Given the description of an element on the screen output the (x, y) to click on. 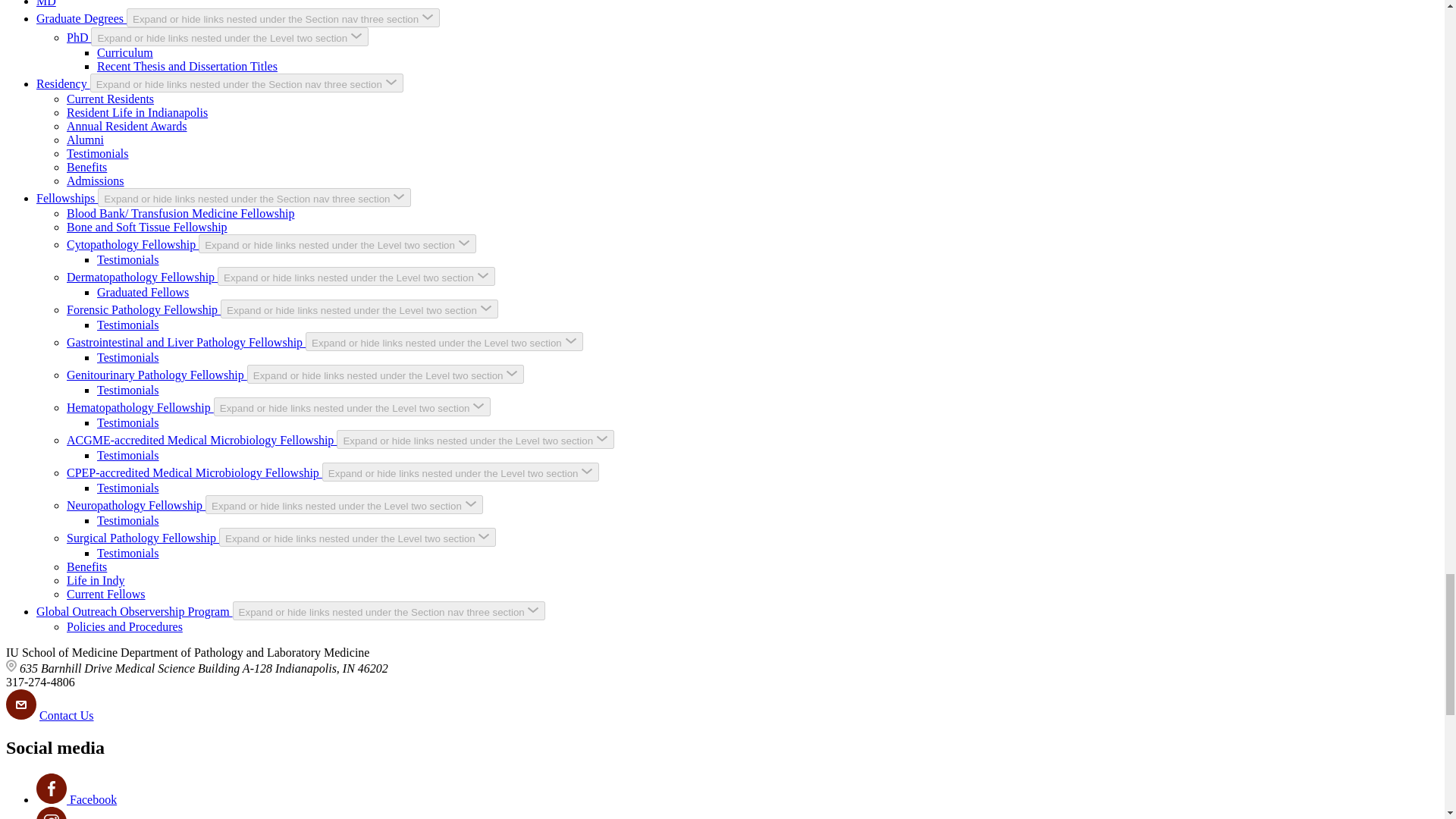
Resident Life in Indianapolis (137, 112)
Residency (63, 83)
Admissions (94, 180)
PhD (78, 37)
Testimonials (97, 153)
Expand or hide links nested under the Level two section (443, 341)
Testimonials (127, 324)
MD (46, 3)
Graduated Fellows (143, 291)
Alumni (84, 139)
Benefits (86, 166)
Current Residents (110, 98)
Curriculum (124, 51)
